Given the description of an element on the screen output the (x, y) to click on. 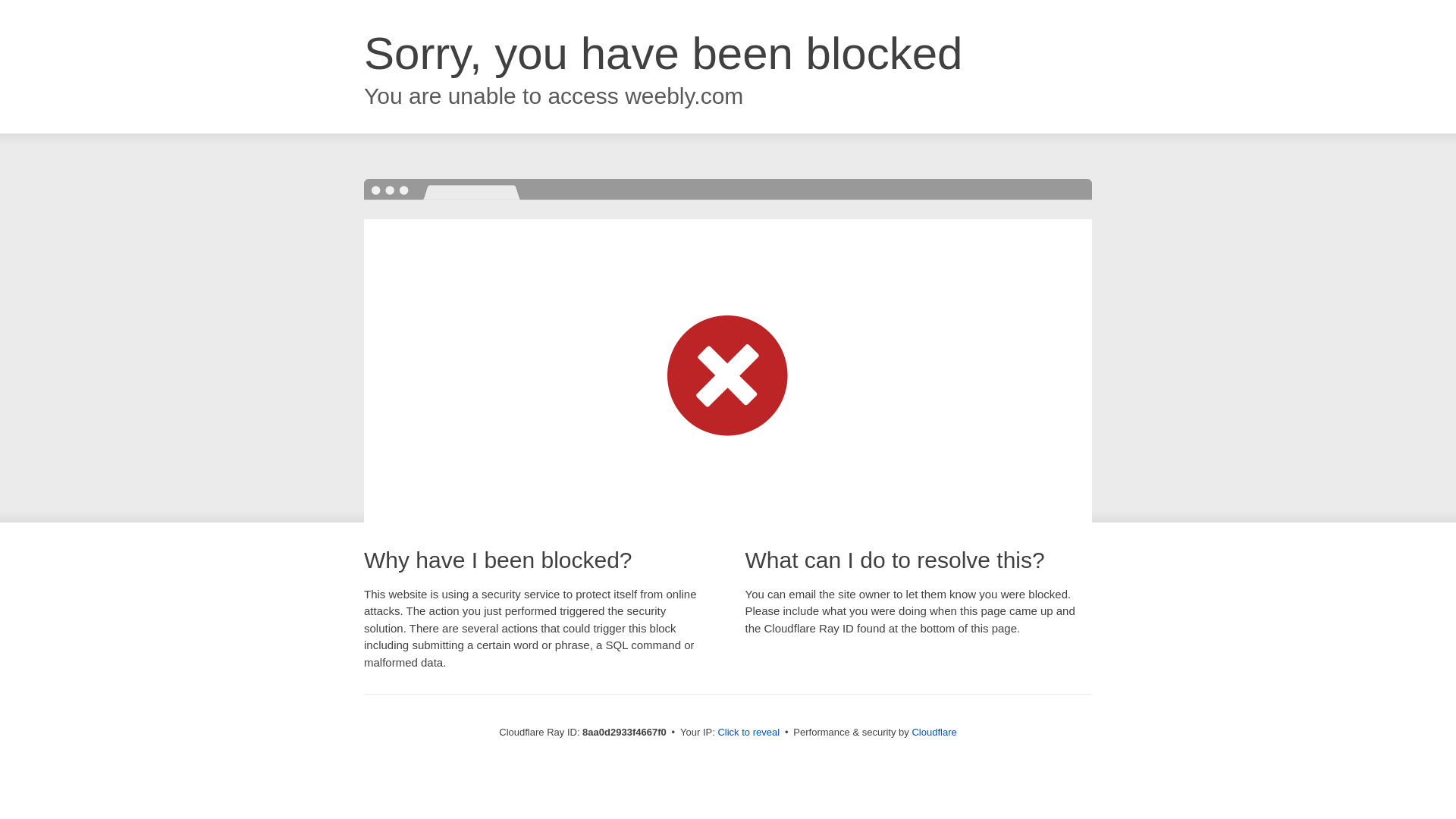
Click to reveal (747, 732)
Cloudflare (933, 731)
